Given the description of an element on the screen output the (x, y) to click on. 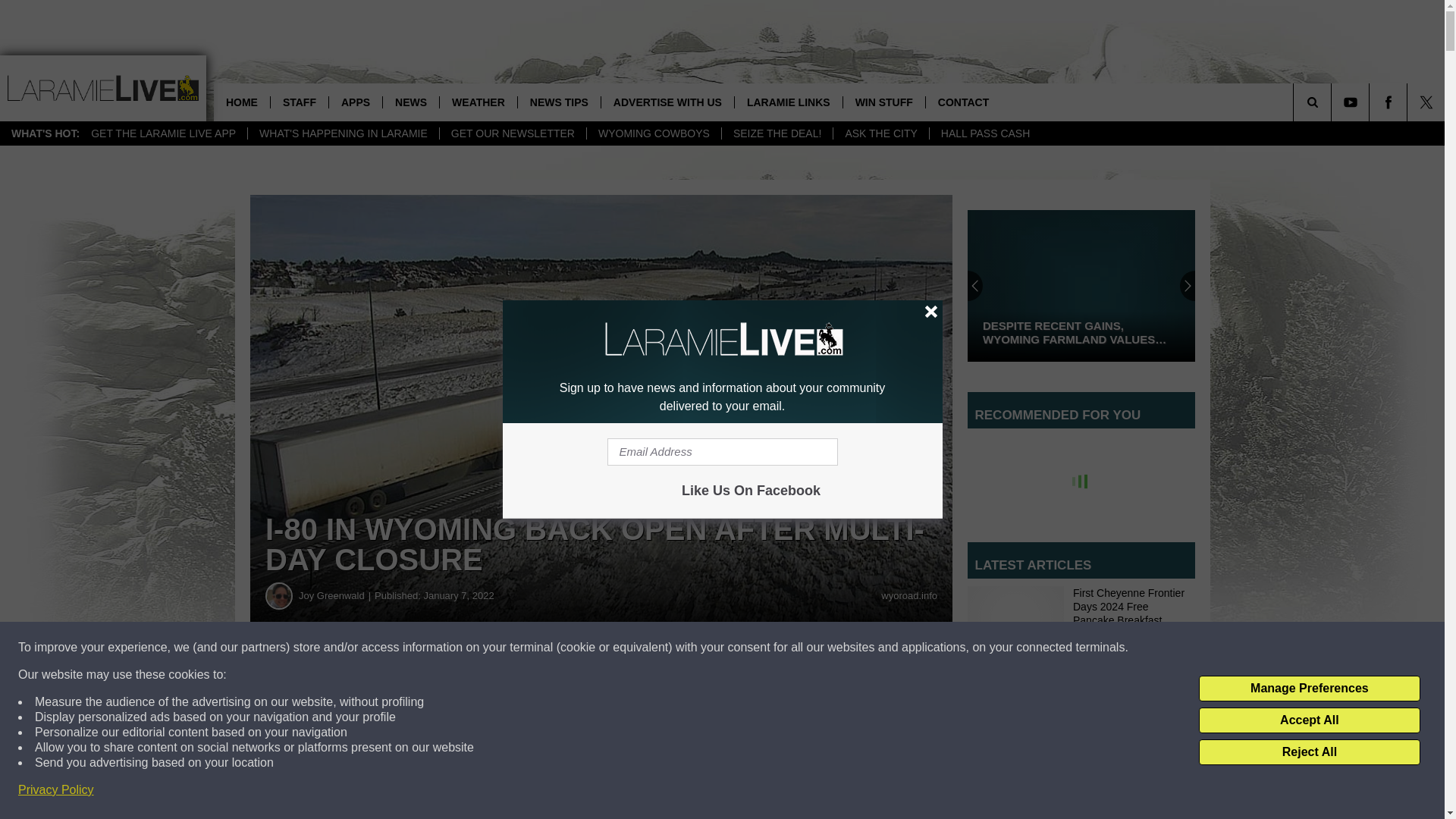
SEARCH (1333, 102)
CONTACT (962, 102)
Manage Preferences (1309, 688)
HALL PASS CASH (985, 133)
LARAMIE LINKS (788, 102)
NEWS (410, 102)
APPS (355, 102)
SEARCH (1333, 102)
WYOMING COWBOYS (653, 133)
GET THE LARAMIE LIVE APP (163, 133)
STAFF (299, 102)
Email Address (722, 452)
NEWS TIPS (557, 102)
Reject All (1309, 751)
WEATHER (477, 102)
